Given the description of an element on the screen output the (x, y) to click on. 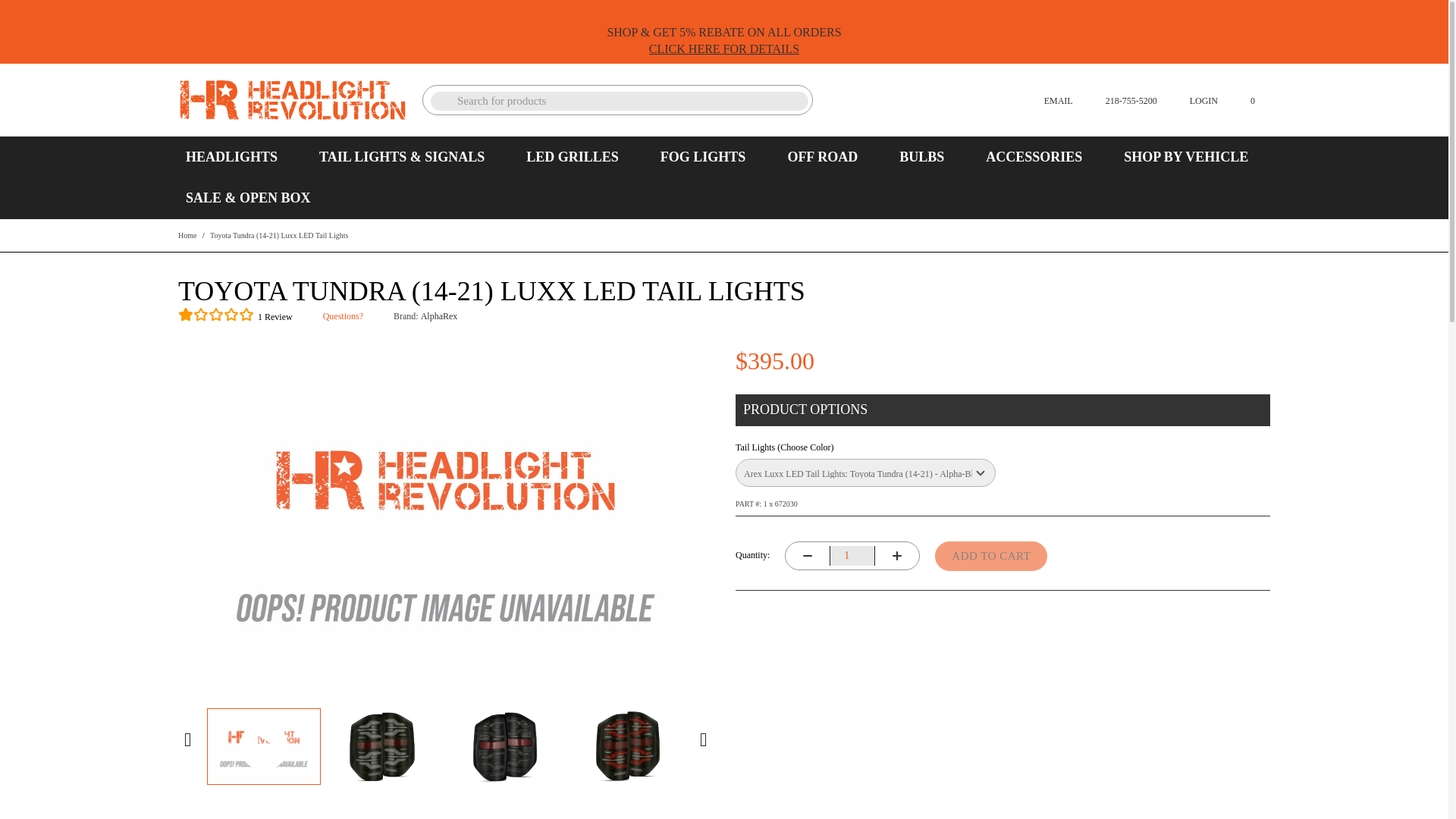
1 (852, 555)
Web Store (292, 99)
0 (1244, 99)
218-755-5200 (1122, 99)
HEADLIGHTS (231, 156)
EMAIL (1048, 99)
Cart (1244, 99)
LOGIN (1194, 99)
